Given the description of an element on the screen output the (x, y) to click on. 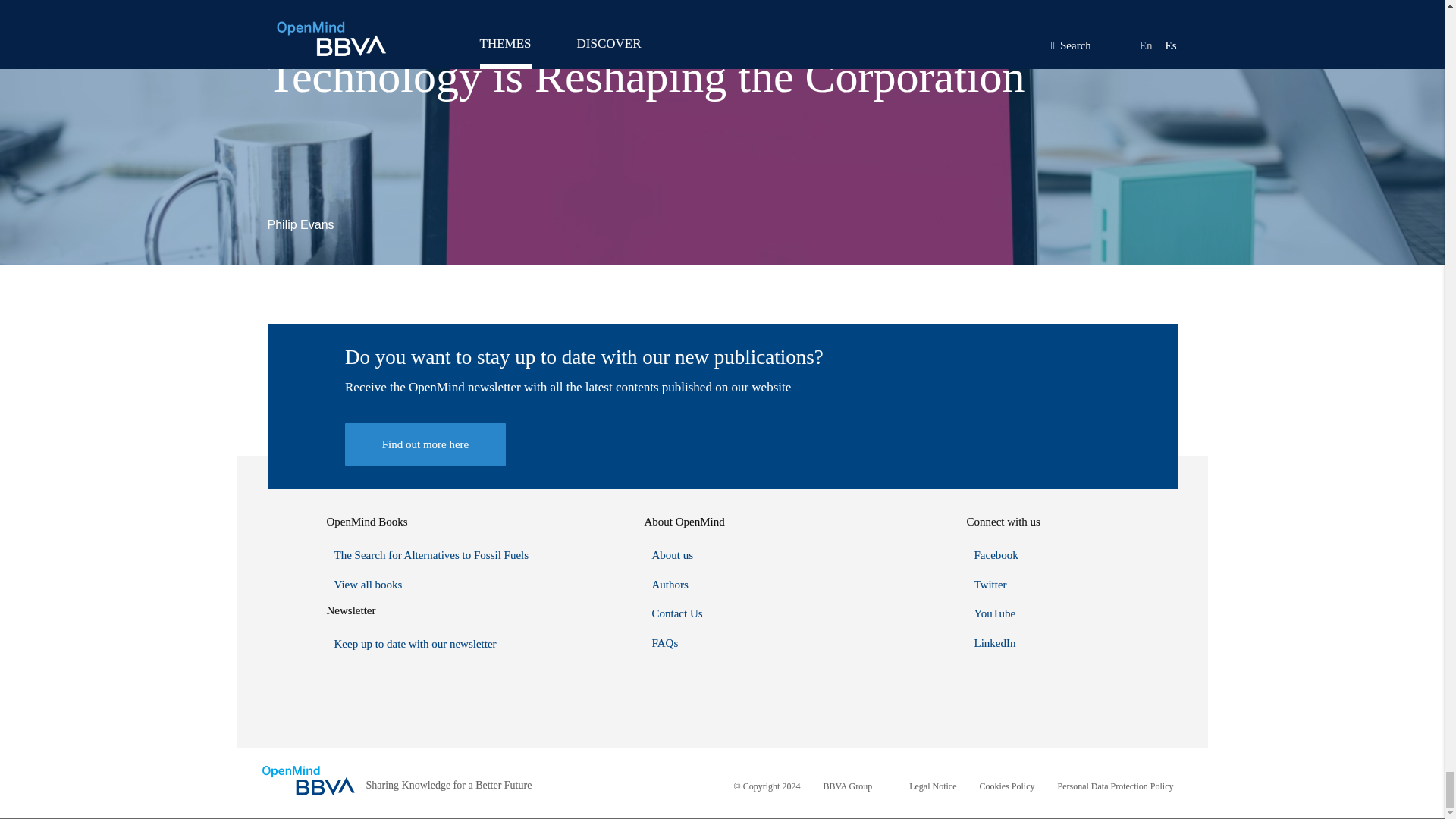
BBVA Group (847, 786)
Legal Notice (932, 786)
Cookies Policy (1007, 786)
Personal Data Protection Policy (1115, 786)
